Given the description of an element on the screen output the (x, y) to click on. 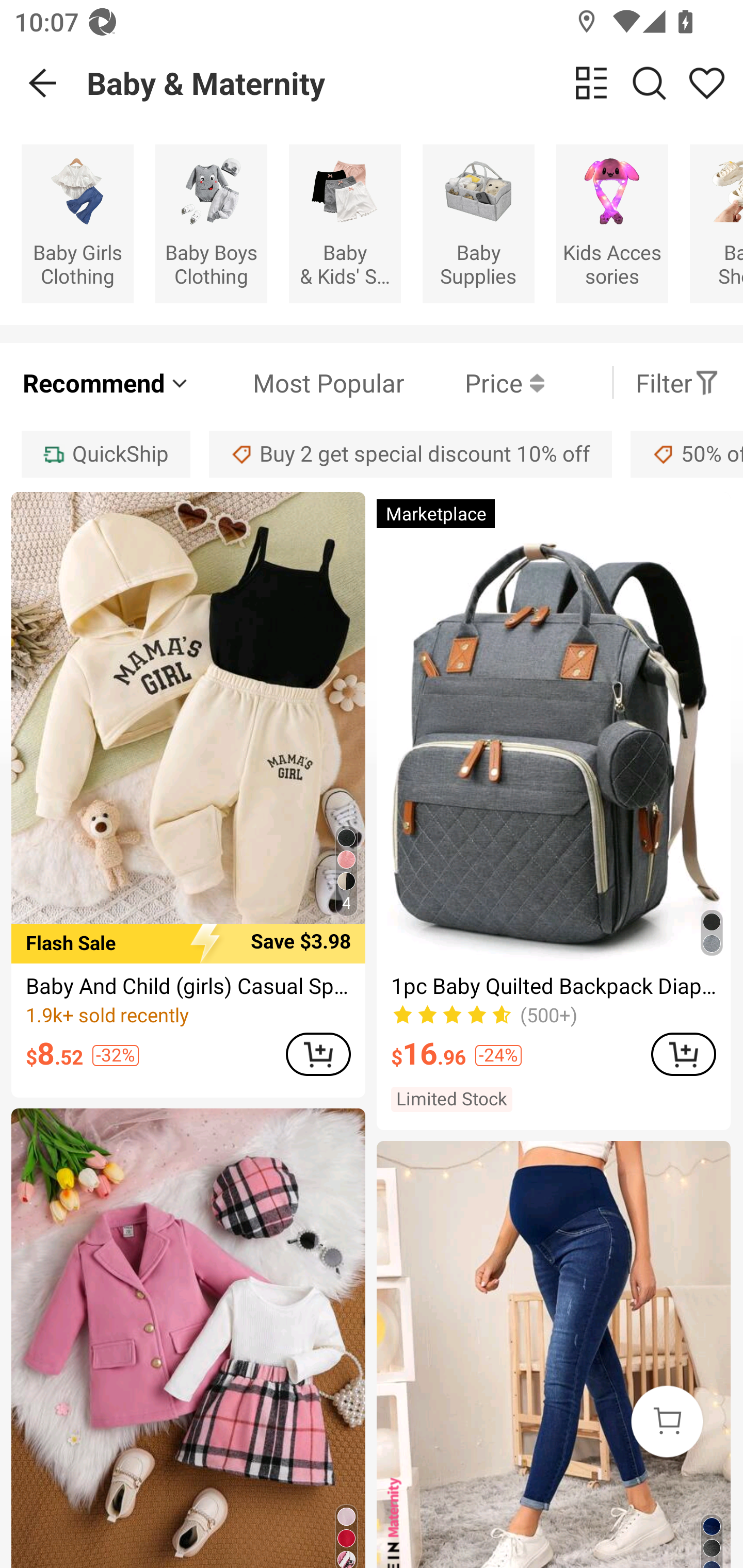
Baby & Maternity change view Search Share (414, 82)
change view (591, 82)
Search (648, 82)
Share (706, 82)
Baby Girls Clothing (77, 223)
Baby Boys Clothing (211, 223)
Baby & Kids' Socks & Tights (345, 223)
Baby Supplies (478, 223)
Kids Accessories (611, 223)
Recommend (106, 382)
Most Popular (297, 382)
Price (474, 382)
Filter (677, 382)
QuickShip (105, 454)
Buy 2 get special discount 10% off (410, 454)
50% off (686, 454)
ADD TO CART (318, 1054)
ADD TO CART (683, 1054)
SHEIN Maternity High Waist Ripped Skinny Jeans (553, 1354)
